Given the description of an element on the screen output the (x, y) to click on. 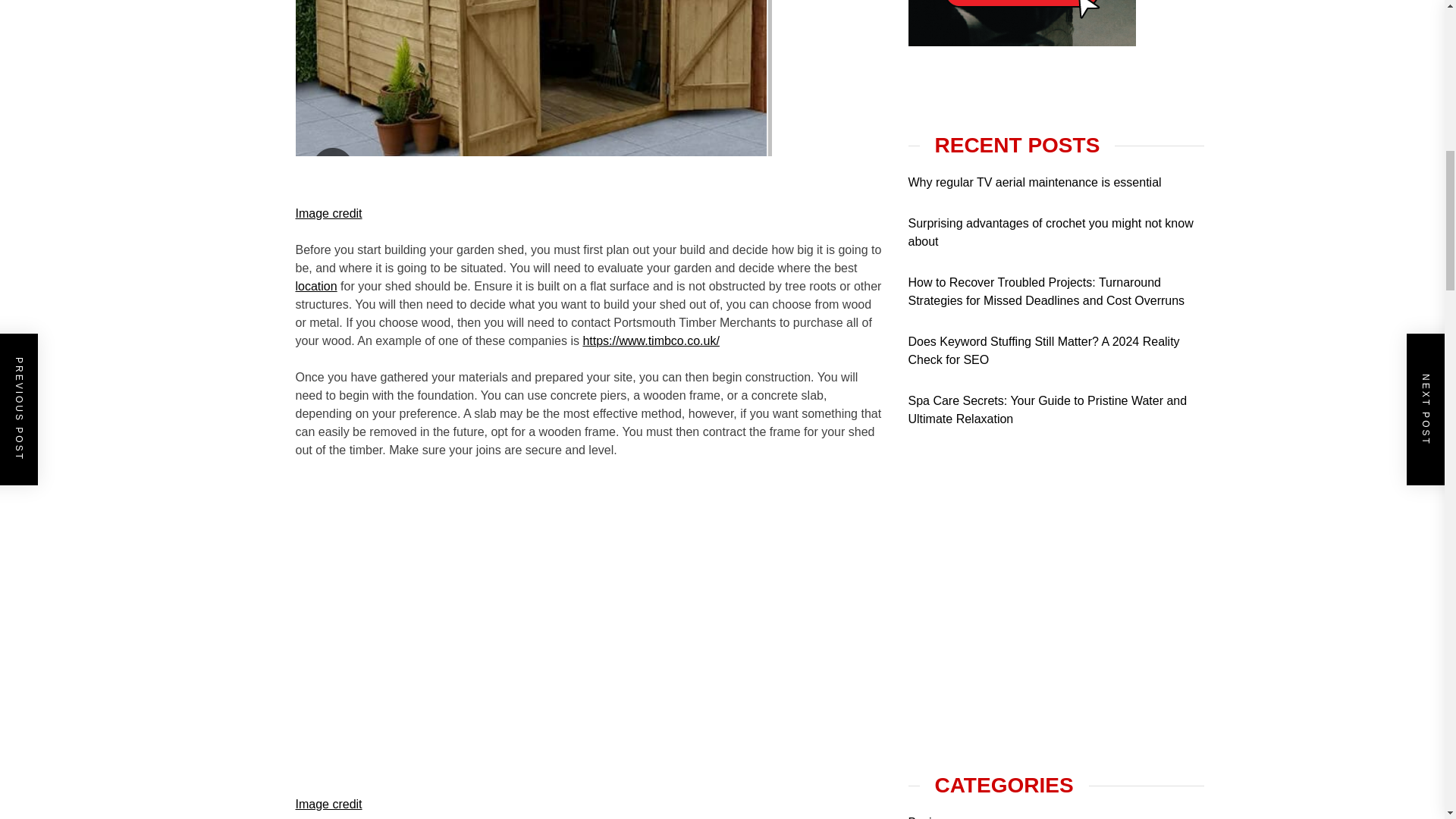
Click Here (1021, 408)
